Given the description of an element on the screen output the (x, y) to click on. 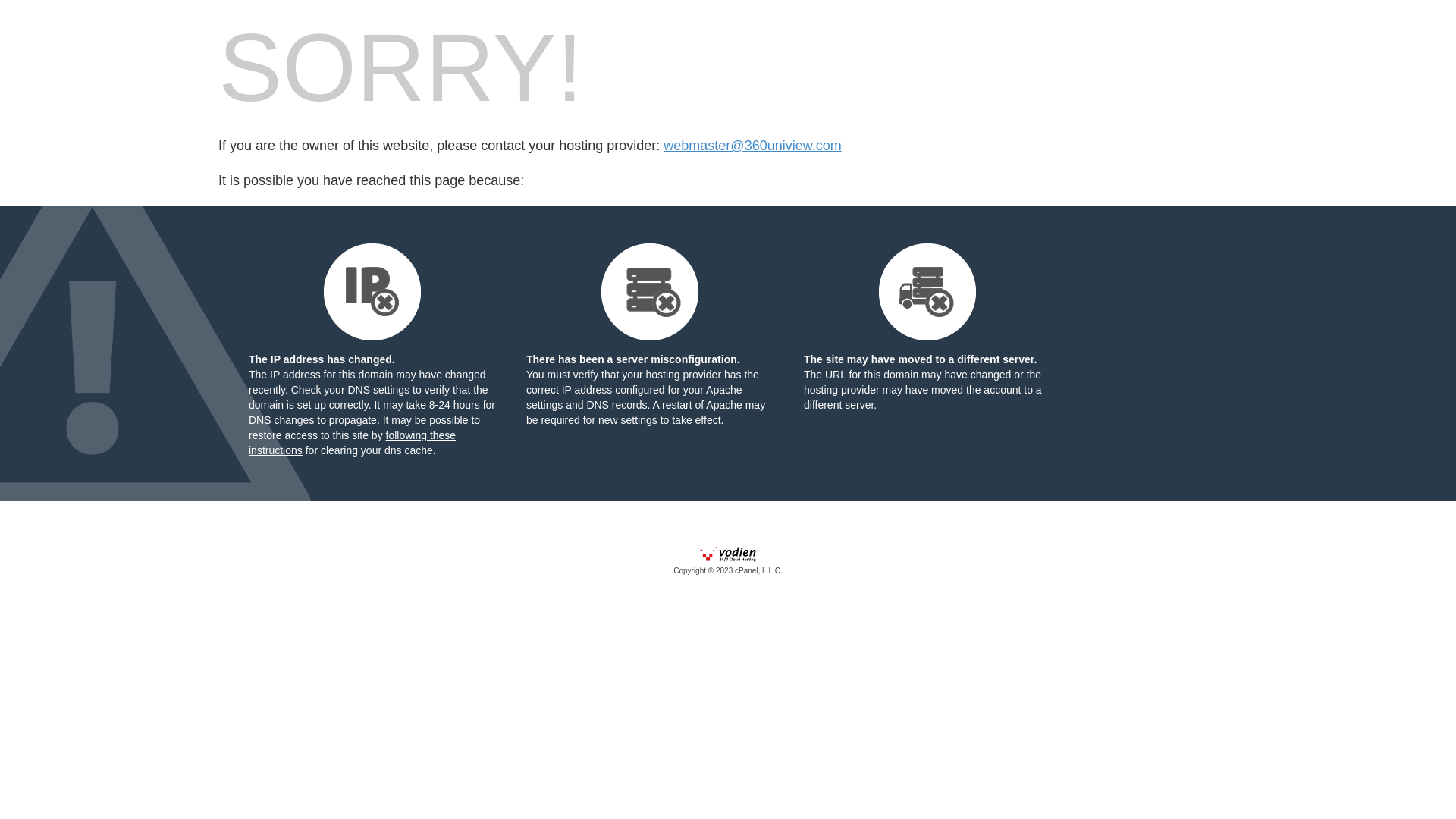
webmaster@360uniview.com Element type: text (751, 145)
following these instructions Element type: text (351, 442)
